Given the description of an element on the screen output the (x, y) to click on. 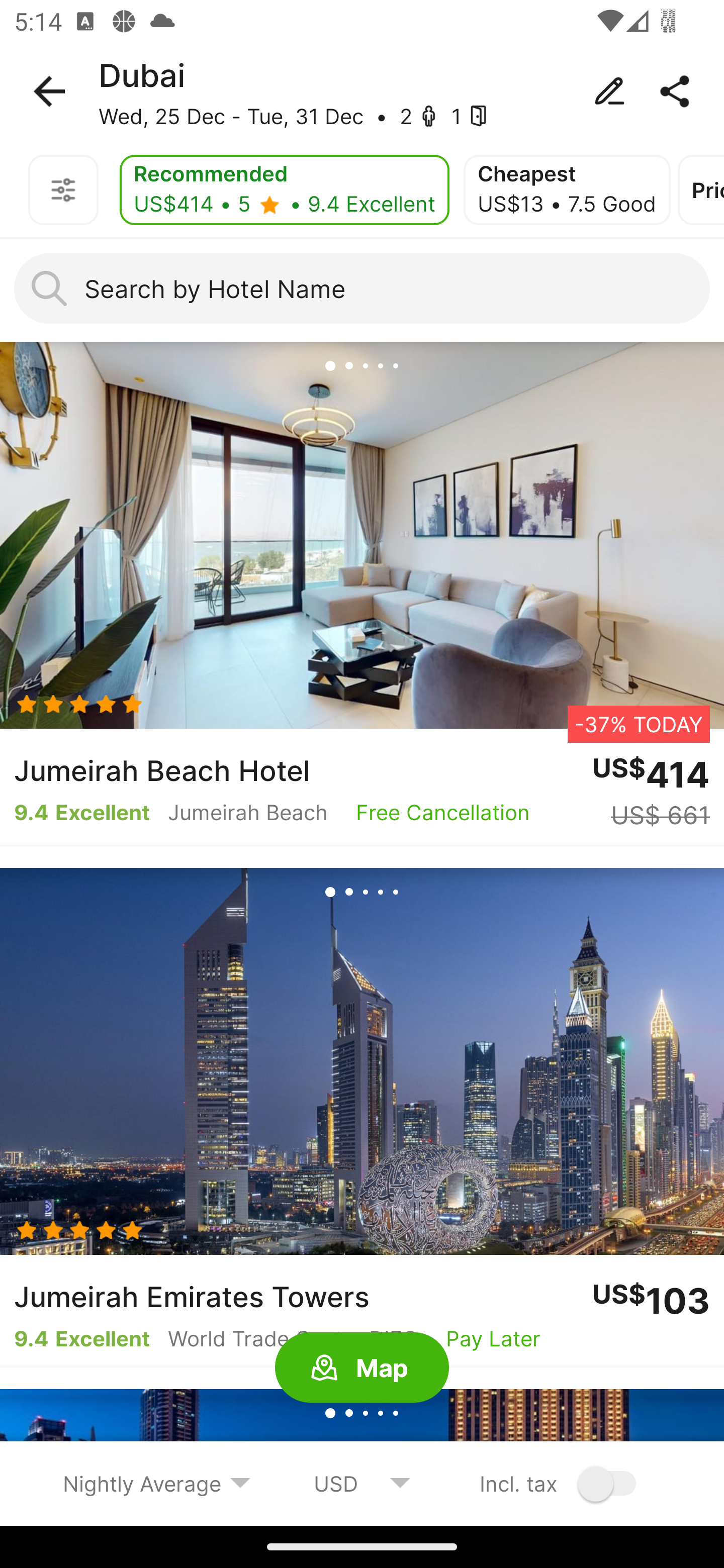
Dubai Wed, 25 Dec - Tue, 31 Dec  •  2 -  1 - (361, 91)
Recommended  US$414  • 5 - • 9.4 Excellent (284, 190)
Cheapest US$13  • 7.5 Good (566, 190)
Search by Hotel Name  (361, 288)
Map  (361, 1367)
Nightly Average (156, 1482)
USD (361, 1482)
